Given the description of an element on the screen output the (x, y) to click on. 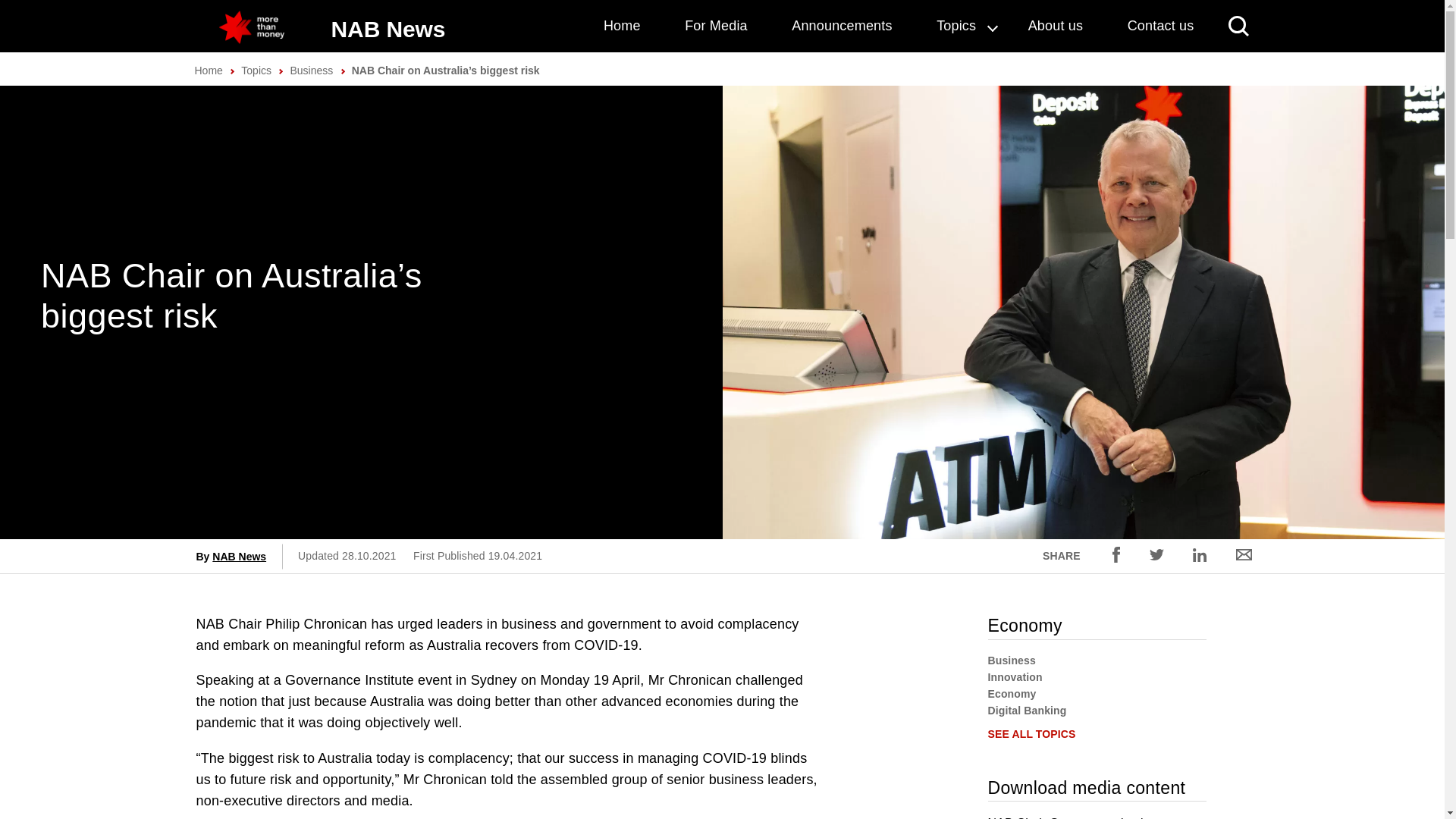
Economy (1011, 693)
SEE ALL TOPICS (1031, 734)
NAB News (239, 556)
Announcements (841, 26)
NAB News (387, 28)
Home (622, 26)
Topics (255, 70)
Business (311, 70)
Innovation (1014, 676)
Home (207, 70)
About us (1055, 26)
Topics (959, 26)
Contact us (1160, 26)
Business (1011, 660)
